Given the description of an element on the screen output the (x, y) to click on. 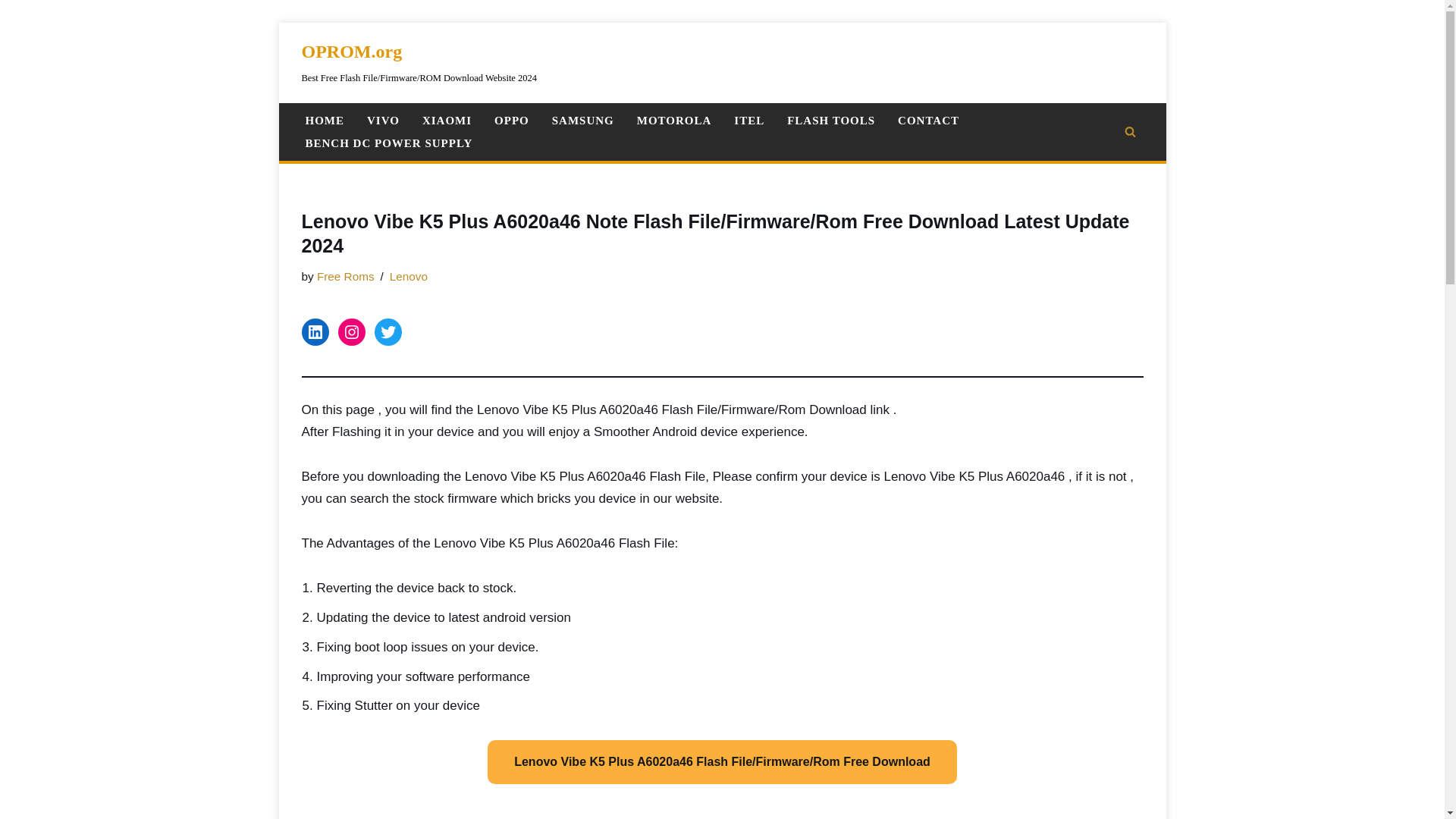
BENCH DC POWER SUPPLY (387, 142)
HOME (323, 119)
Posts by Free Roms (345, 276)
XIAOMI (446, 119)
Lenovo (409, 276)
FLASH TOOLS (831, 119)
Skip to content (290, 54)
ITEL (748, 119)
CONTACT (928, 119)
Free Roms (345, 276)
